Given the description of an element on the screen output the (x, y) to click on. 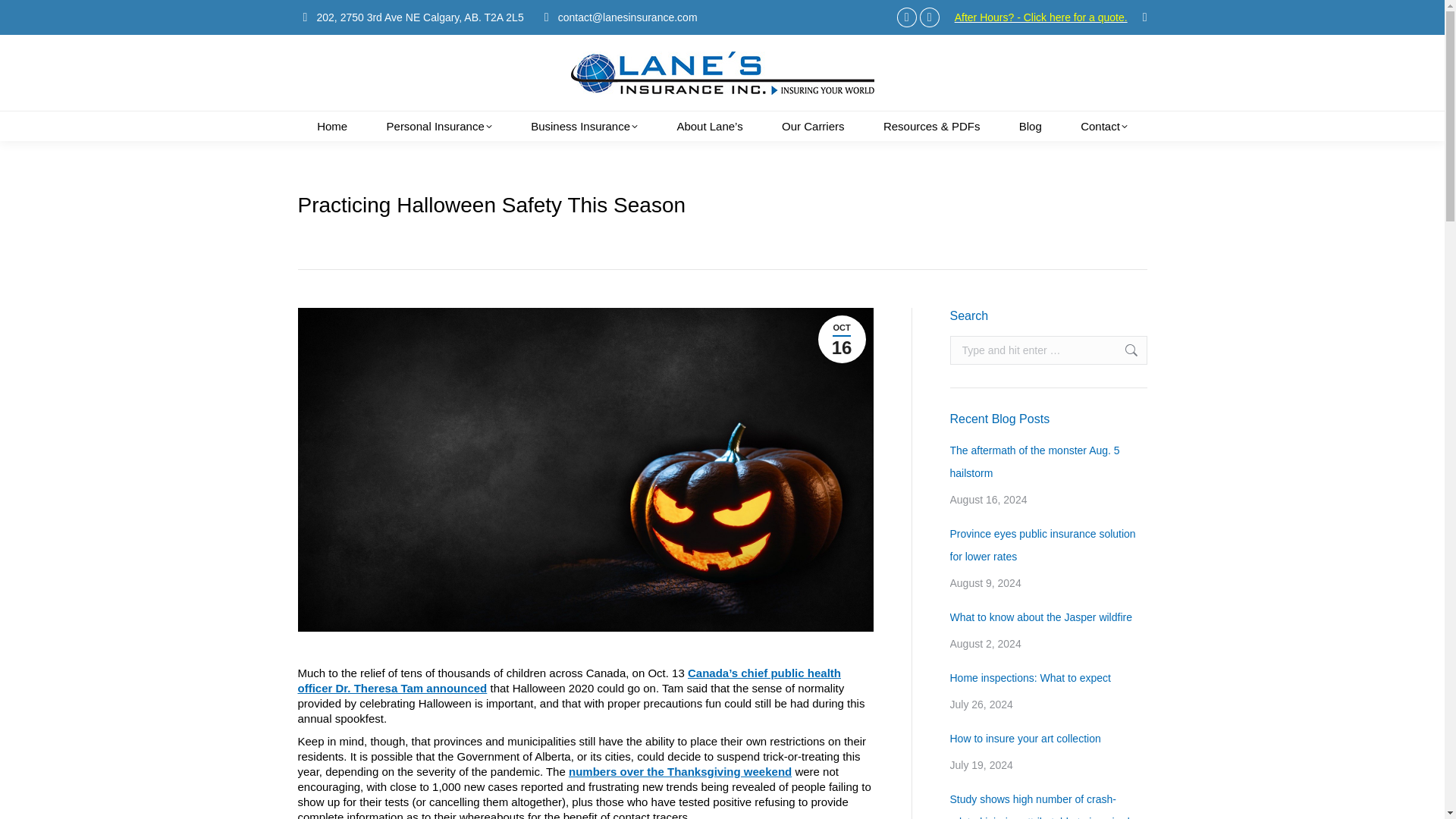
Facebook page opens in new window (906, 17)
Contact (1103, 125)
Facebook page opens in new window (906, 17)
Go! (1123, 349)
Personal Insurance (439, 125)
After Hours? - Click here for a quote. (1040, 17)
X page opens in new window (929, 17)
Business Insurance (584, 125)
Go! (23, 15)
Our Carriers (813, 125)
